Given the description of an element on the screen output the (x, y) to click on. 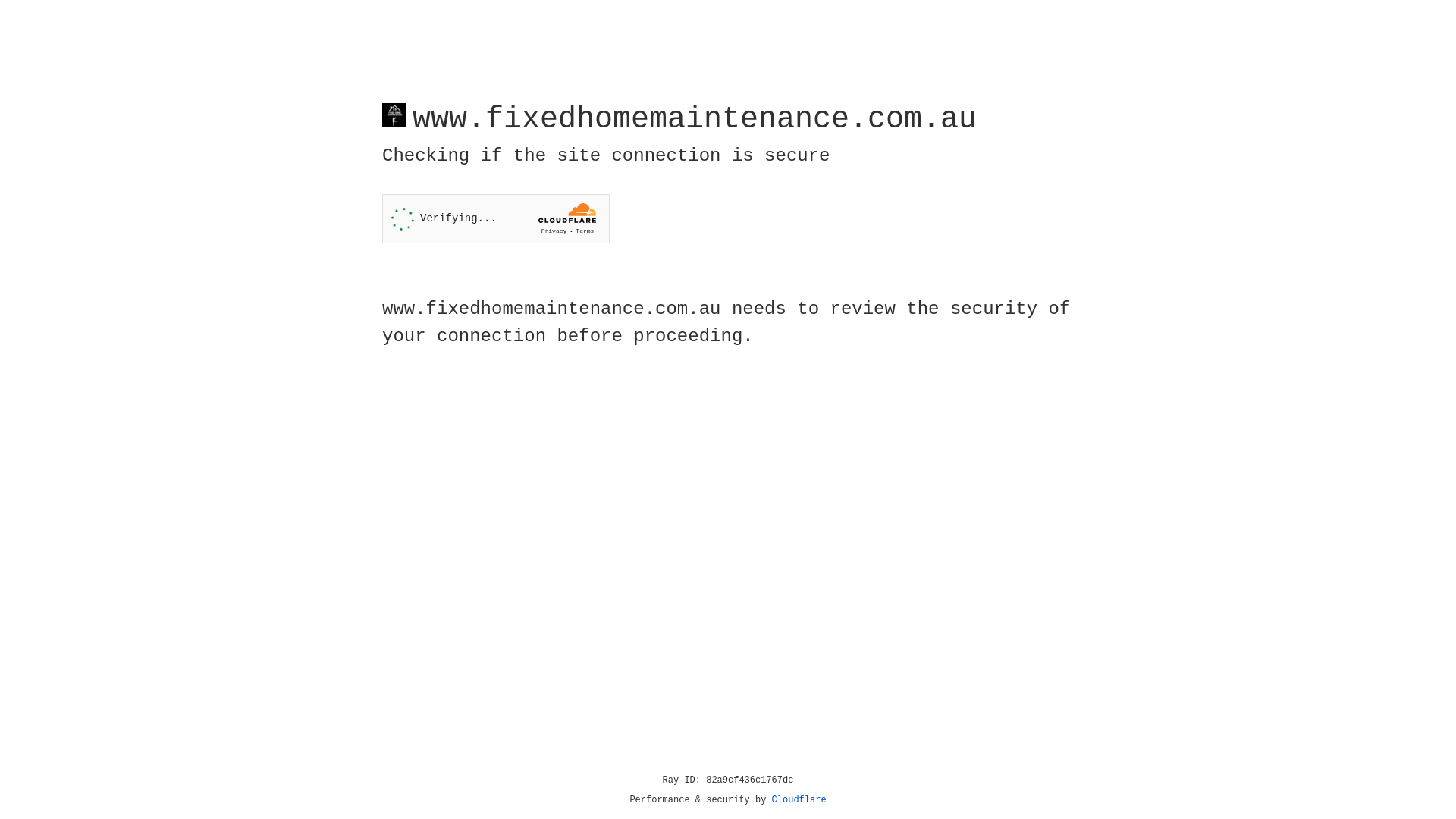
Widget containing a Cloudflare security challenge Element type: hover (495, 218)
Cloudflare Element type: text (798, 799)
